Given the description of an element on the screen output the (x, y) to click on. 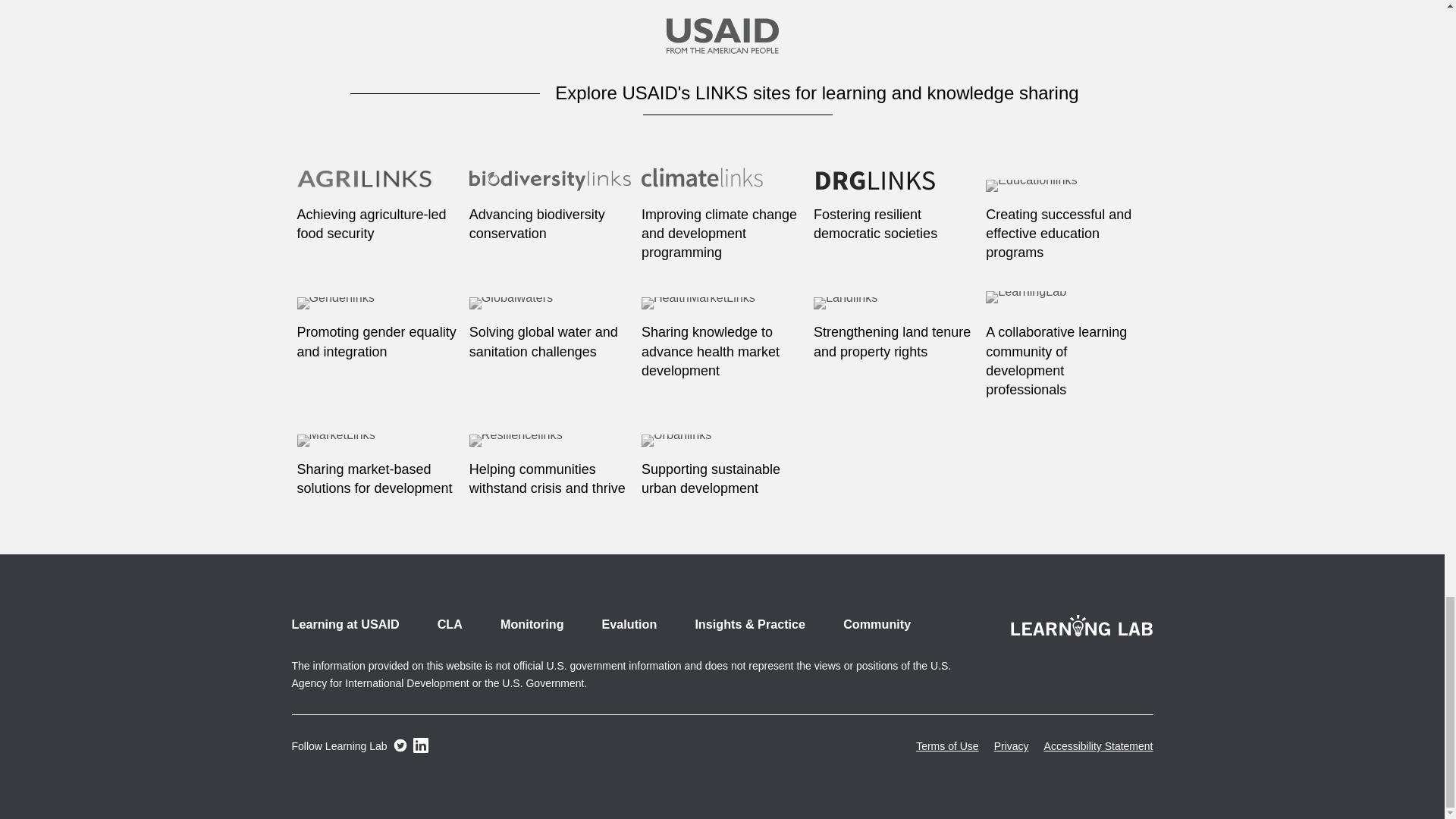
Go to USAID (721, 38)
Go to Climatelinks (722, 187)
Go to Agrilinks (377, 187)
Go to Globalwaters (549, 305)
Go to Genderlinks (377, 305)
Go to Landlinks (894, 305)
Go to HealthMarketLinks (722, 305)
Go to DRG (894, 187)
Go to Educationlinks (1066, 187)
Go to Biodiversitylinks (549, 187)
